Given the description of an element on the screen output the (x, y) to click on. 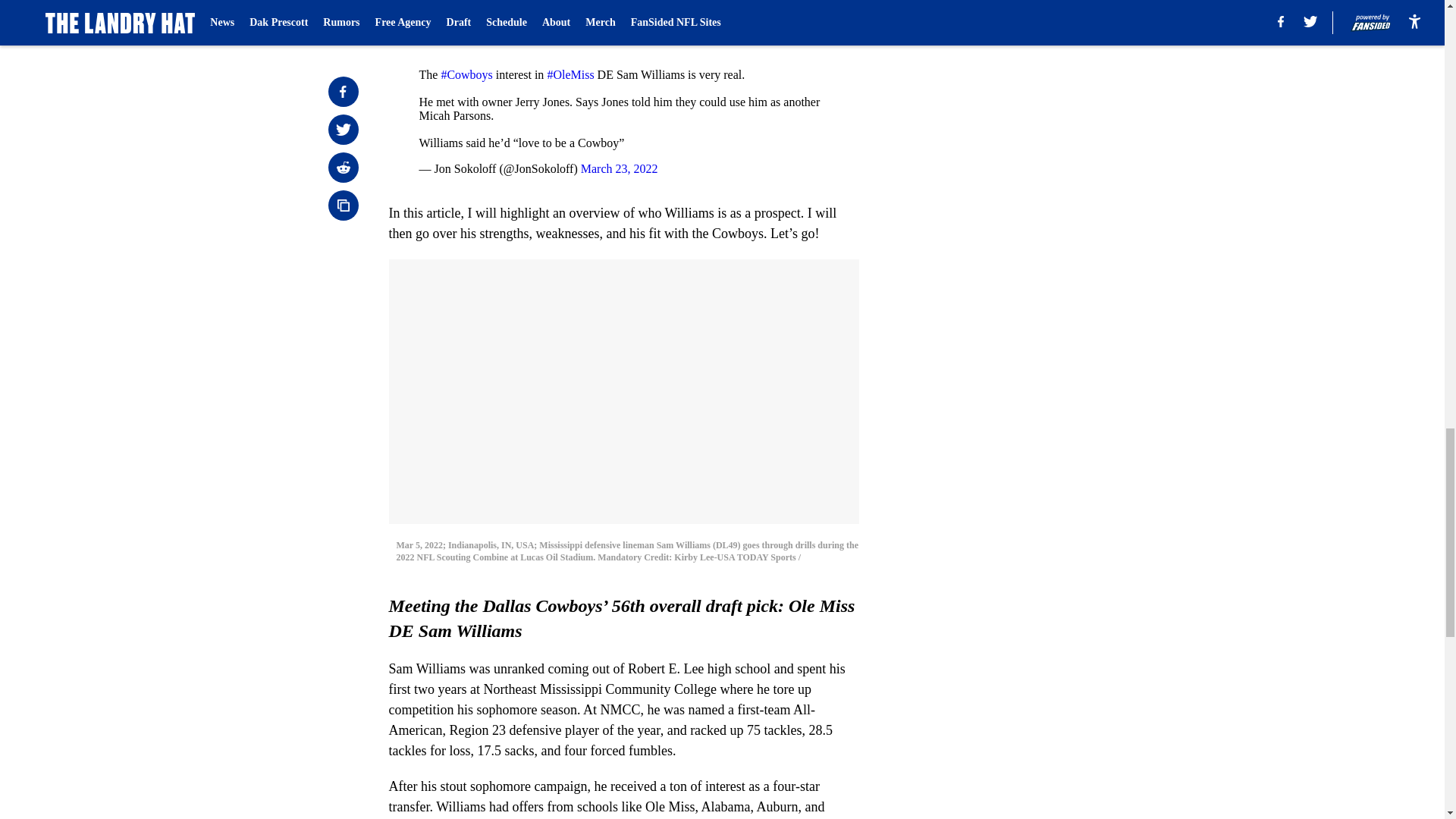
March 23, 2022 (619, 168)
